Given the description of an element on the screen output the (x, y) to click on. 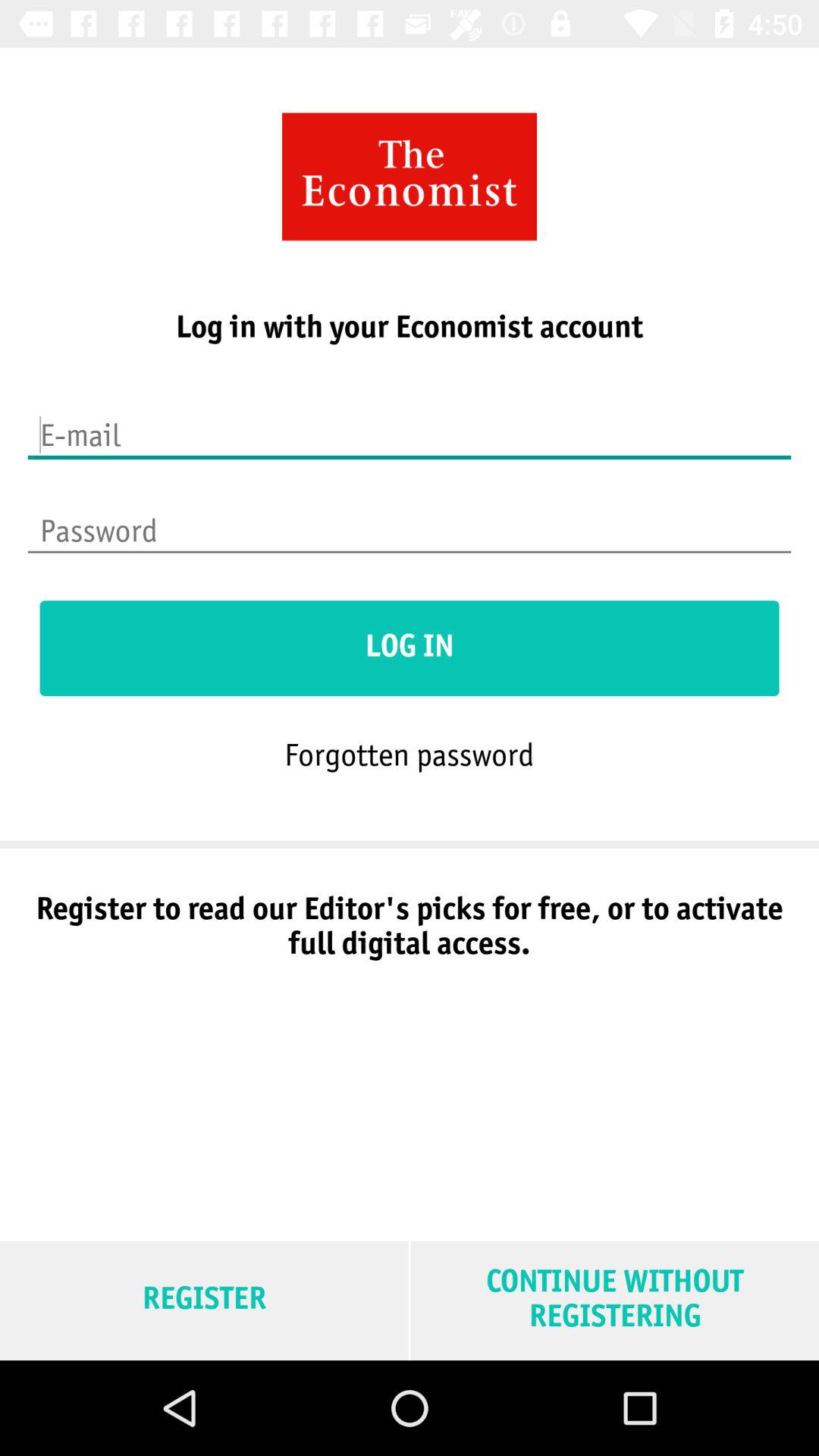
open continue without registering at the bottom right corner (614, 1300)
